Given the description of an element on the screen output the (x, y) to click on. 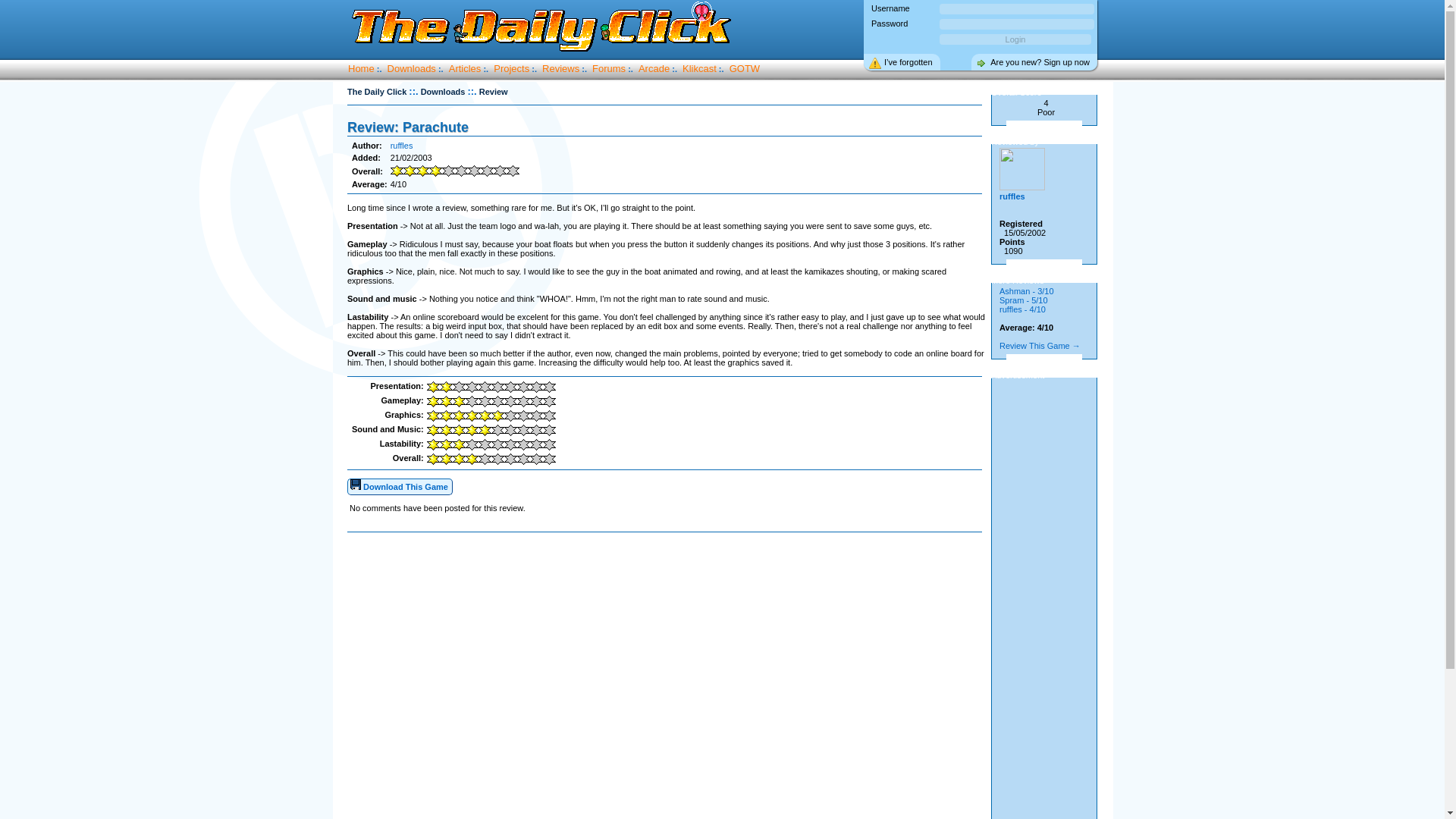
Download This Game (399, 486)
ruffles (401, 144)
Projects (511, 68)
The Daily Click (376, 91)
Downloads (411, 68)
GOTW (744, 68)
Login (1014, 39)
Are you new? Sign up now (1034, 62)
Forums (609, 68)
ruffles (1021, 191)
Home (360, 68)
Arcade (654, 68)
Review (493, 91)
Review: Parachute (407, 127)
Login (1014, 39)
